Given the description of an element on the screen output the (x, y) to click on. 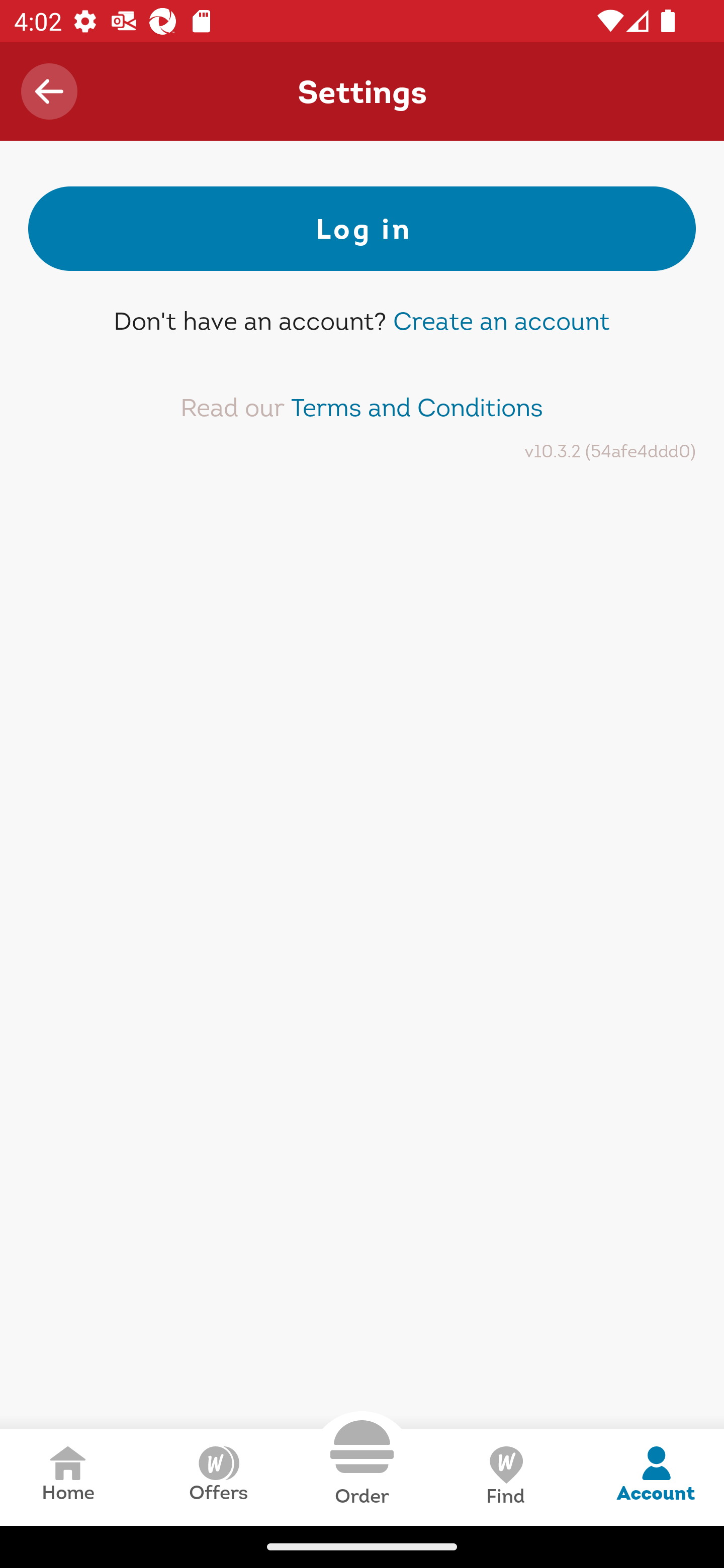
Back (49, 91)
Log in (361, 228)
Create an account (501, 320)
Order,3 of 5 Order (361, 1463)
Home,1 of 5 Home (68, 1476)
Rewards,2 of 5 Offers Offers (218, 1476)
Scan,4 of 5 Find Find (505, 1476)
Account,5 of 5 Account (655, 1476)
